Given the description of an element on the screen output the (x, y) to click on. 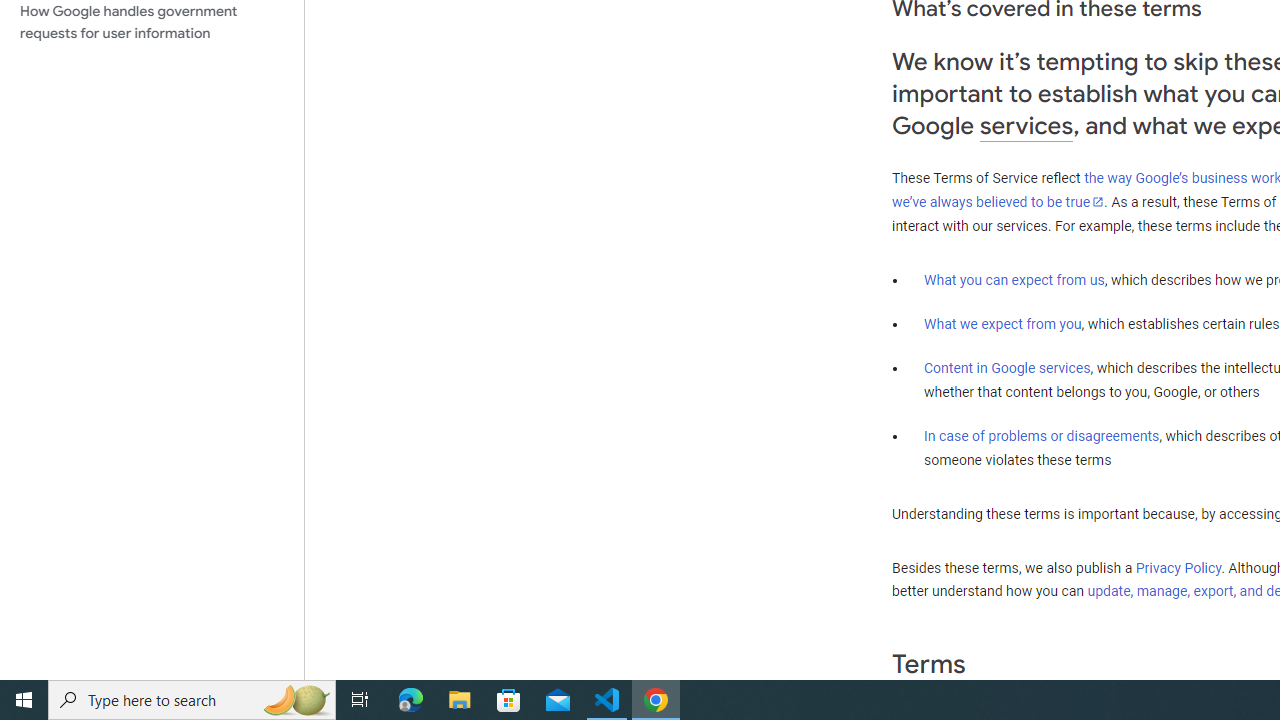
Content in Google services (1007, 368)
In case of problems or disagreements (1041, 435)
services (1026, 125)
What we expect from you (1002, 323)
What you can expect from us (1014, 279)
